Given the description of an element on the screen output the (x, y) to click on. 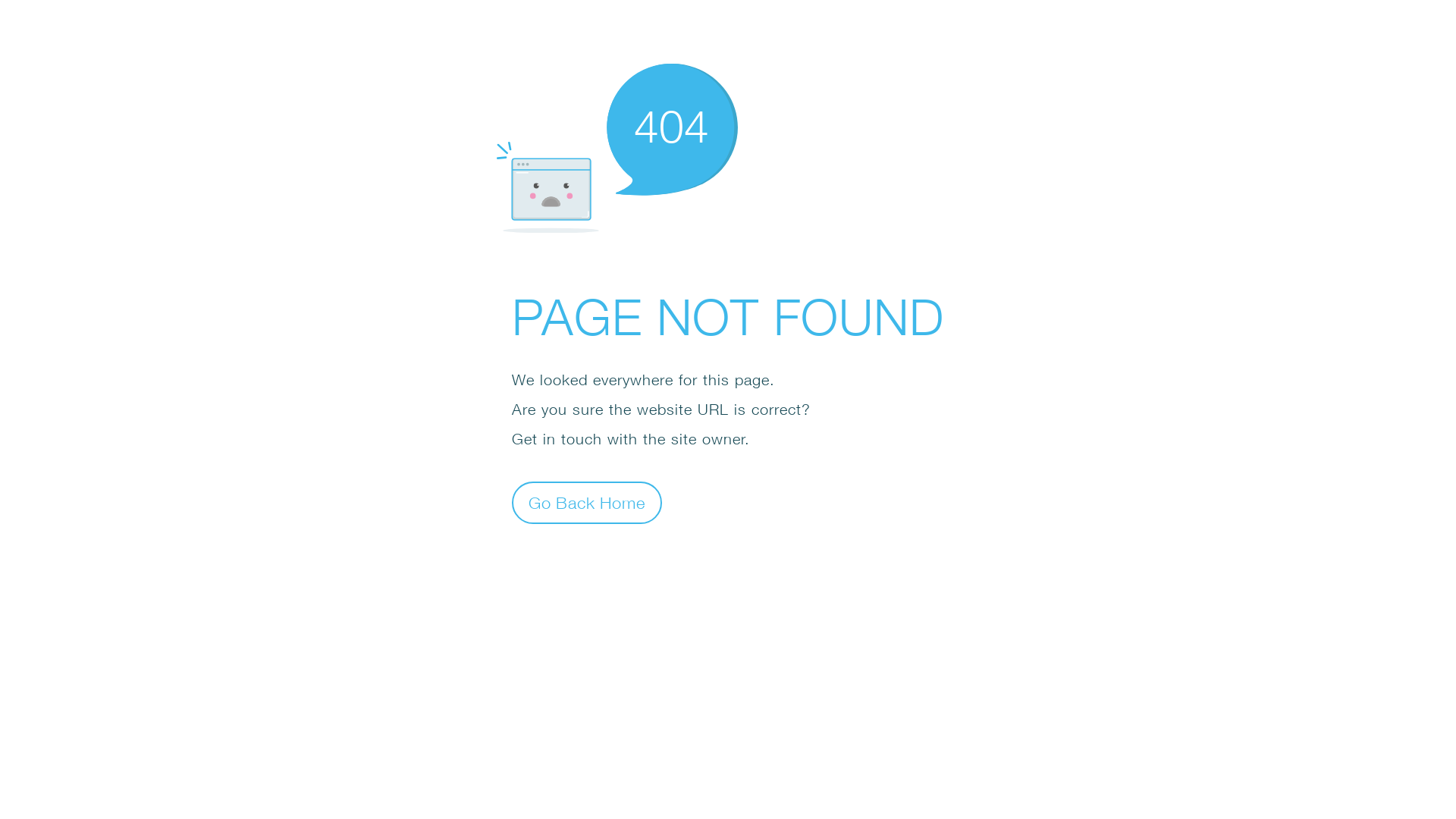
Go Back Home Element type: text (586, 502)
